Given the description of an element on the screen output the (x, y) to click on. 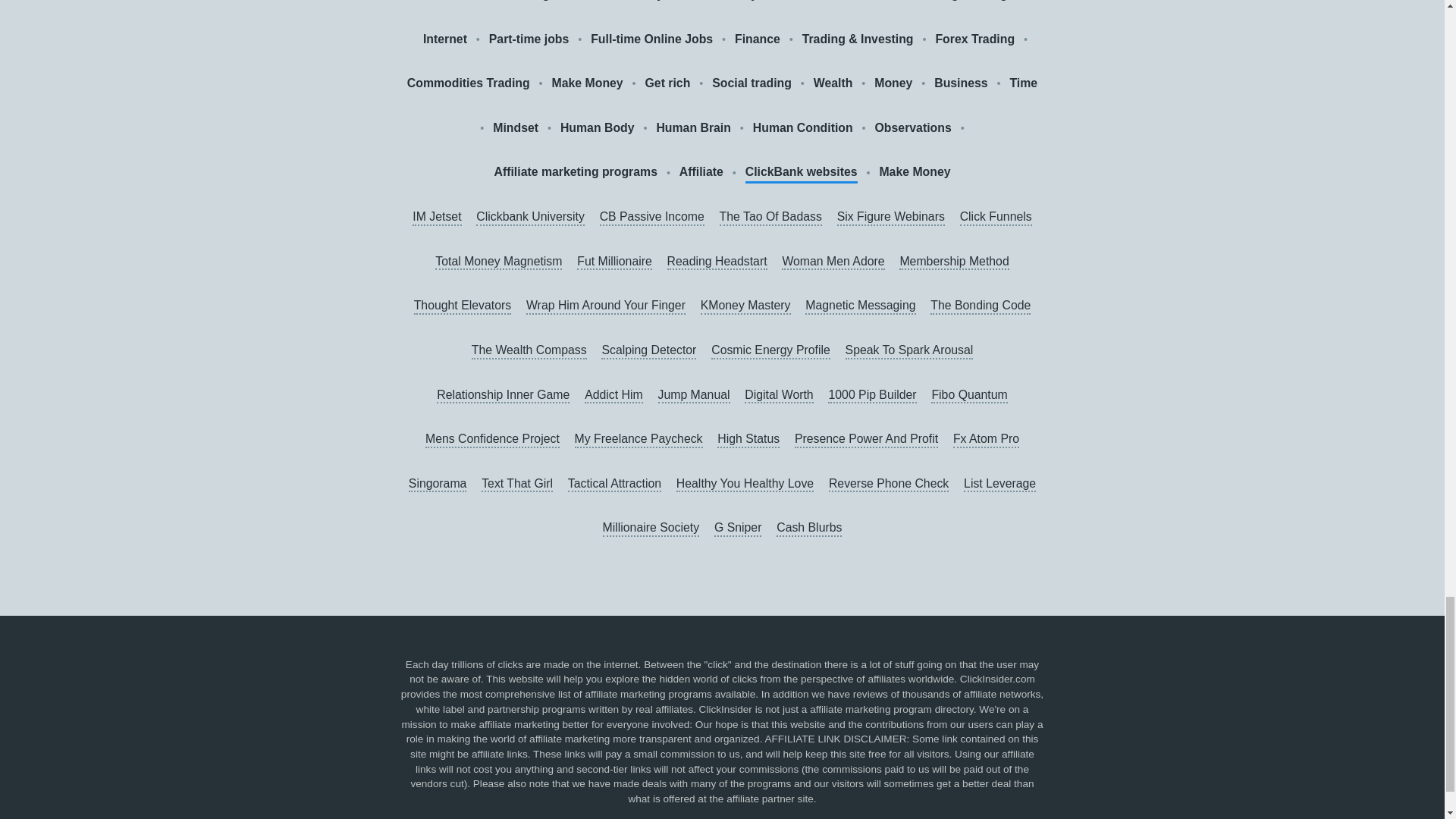
Trading (936, 2)
Extra income (855, 2)
Make Money (587, 83)
Part-time jobs (529, 39)
Social trading (751, 83)
Time (1022, 83)
Forex Trading (974, 39)
Blog (993, 2)
Make money online (740, 2)
Money (893, 83)
Get rich (667, 83)
Wealth (833, 83)
Commodities Trading (468, 83)
Get rich slowly (620, 2)
Business (960, 83)
